Given the description of an element on the screen output the (x, y) to click on. 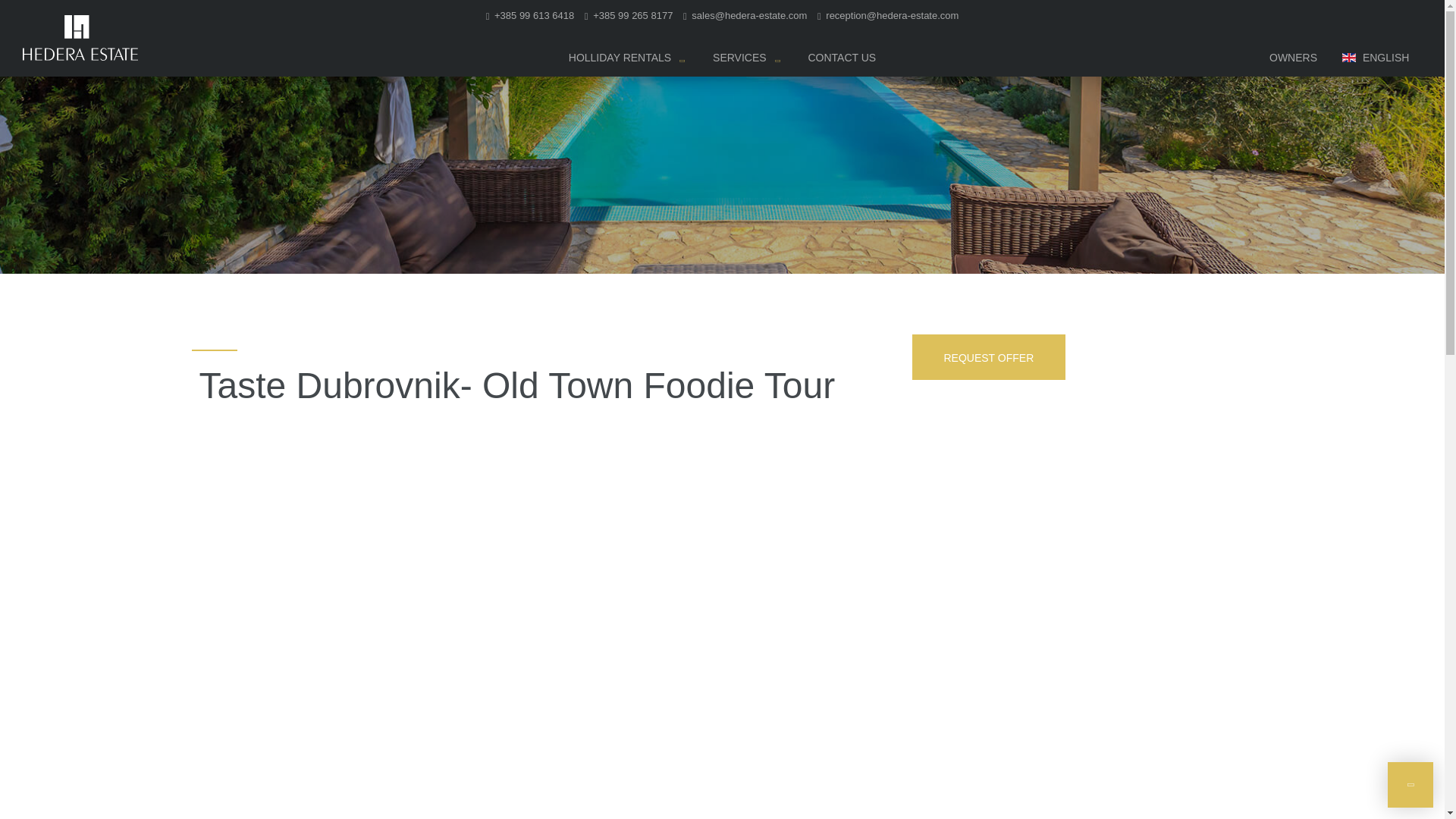
CONTACT US (842, 60)
HOLLIDAY RENTALS (626, 60)
REQUEST OFFER (988, 357)
SERVICES (746, 60)
OWNERS (1293, 60)
